Given the description of an element on the screen output the (x, y) to click on. 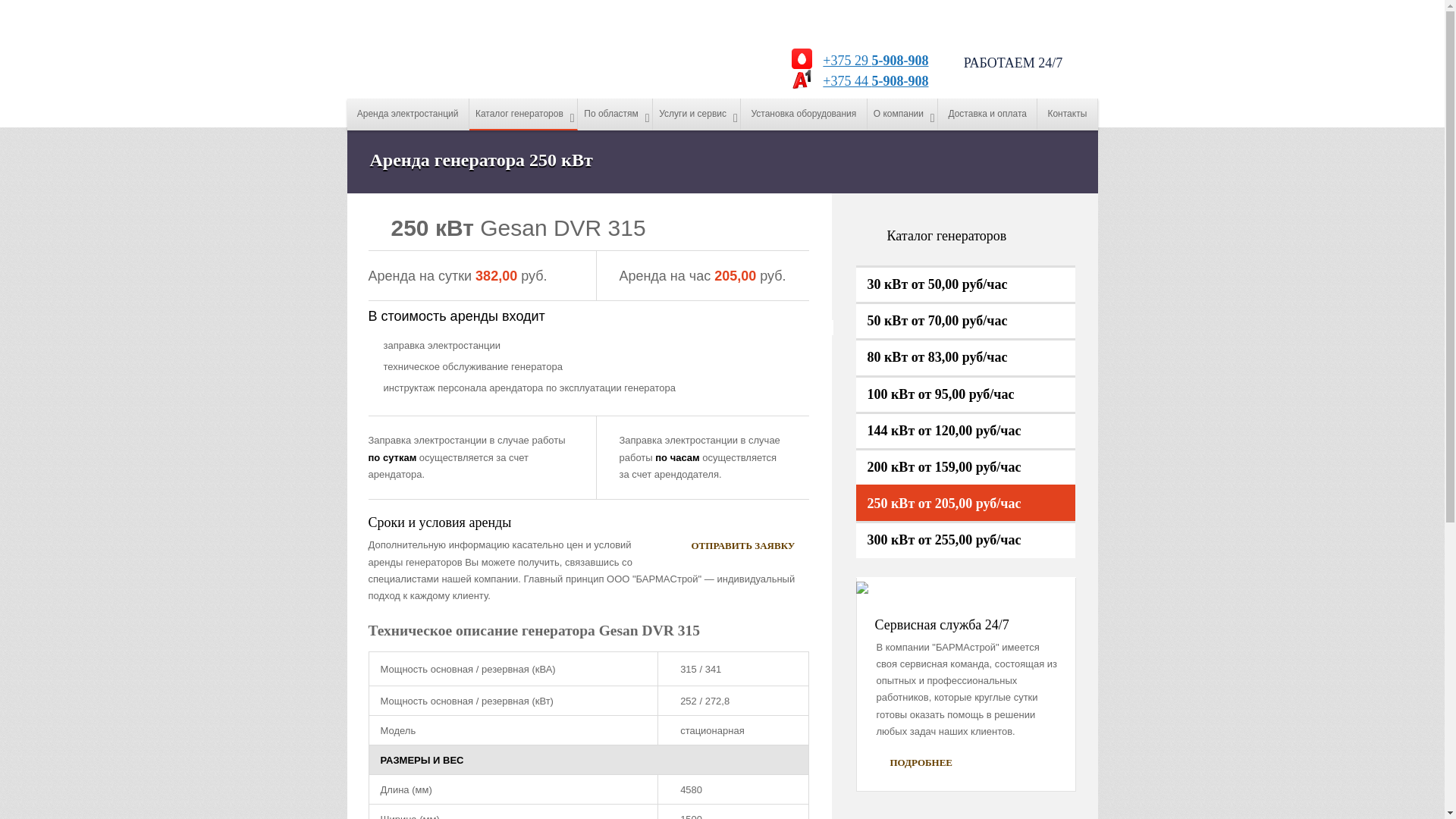
+375 29 5-908-908 Element type: text (871, 60)
+375 44 5-908-908 Element type: text (871, 80)
